Given the description of an element on the screen output the (x, y) to click on. 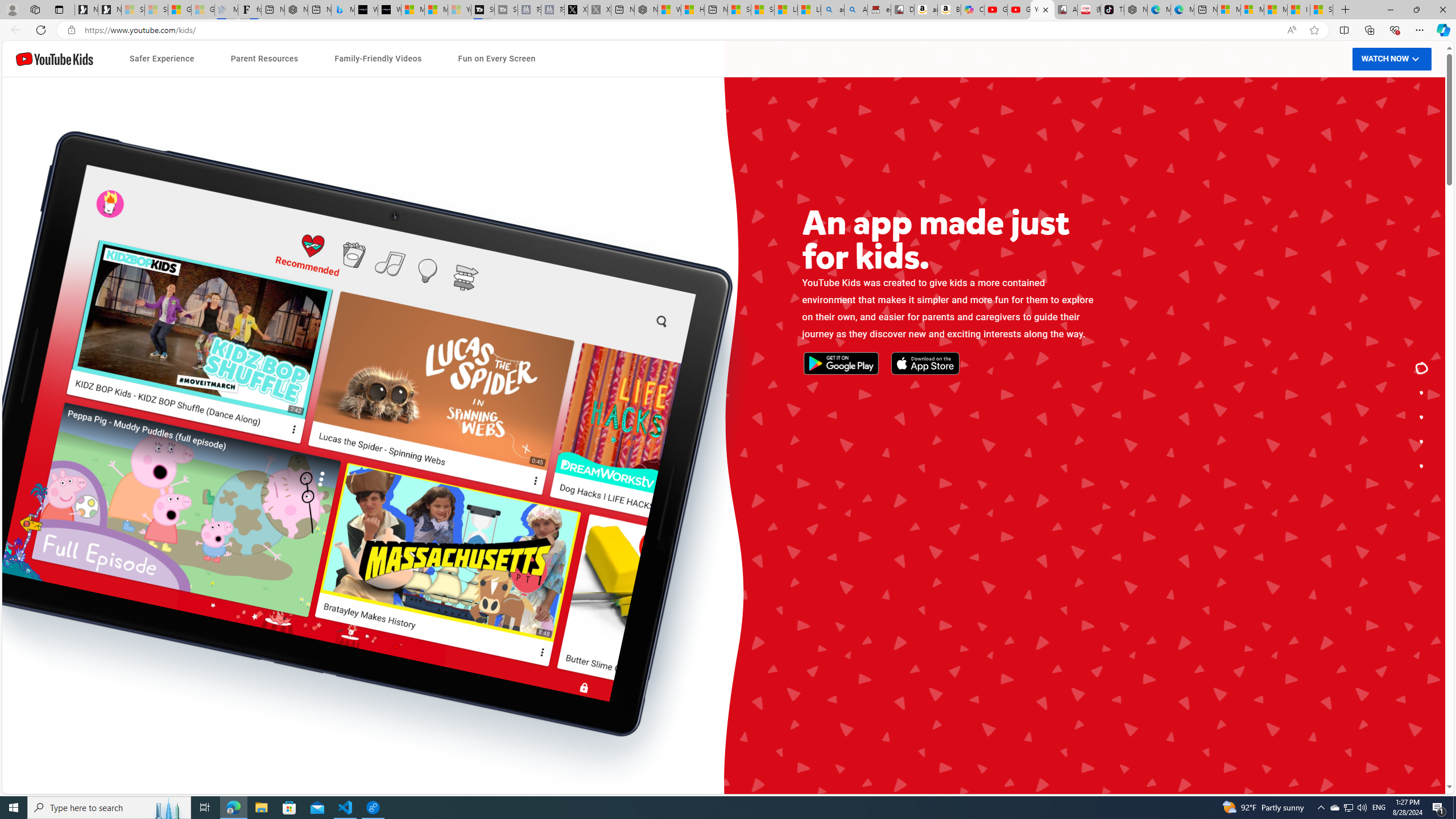
01Arts & Crafts (950, 487)
An app made just for kids. (1421, 368)
I Gained 20 Pounds of Muscle in 30 Days! | Watch (1298, 9)
Tips and tools for your family. (1421, 417)
TikTok (1112, 9)
